Given the description of an element on the screen output the (x, y) to click on. 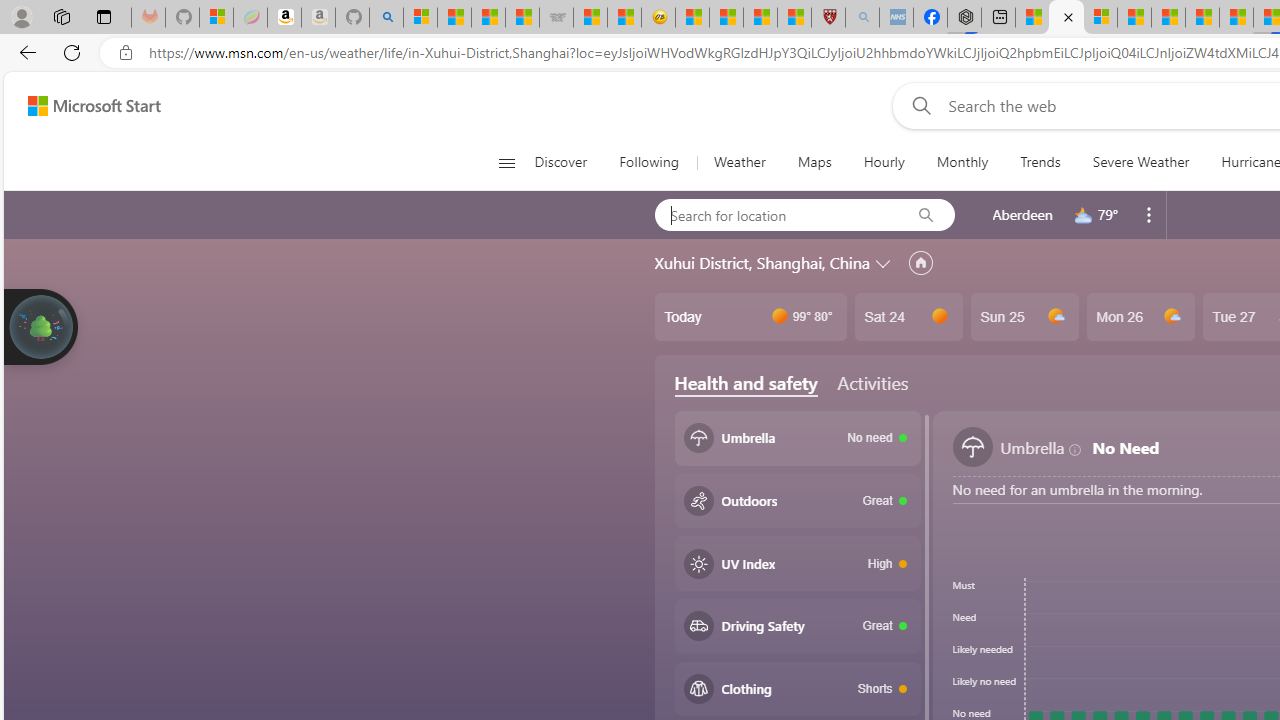
Driving safety Great (797, 625)
Mon 26 (1140, 317)
Outdoors Great (797, 501)
Maps (814, 162)
Change location (884, 262)
